Given the description of an element on the screen output the (x, y) to click on. 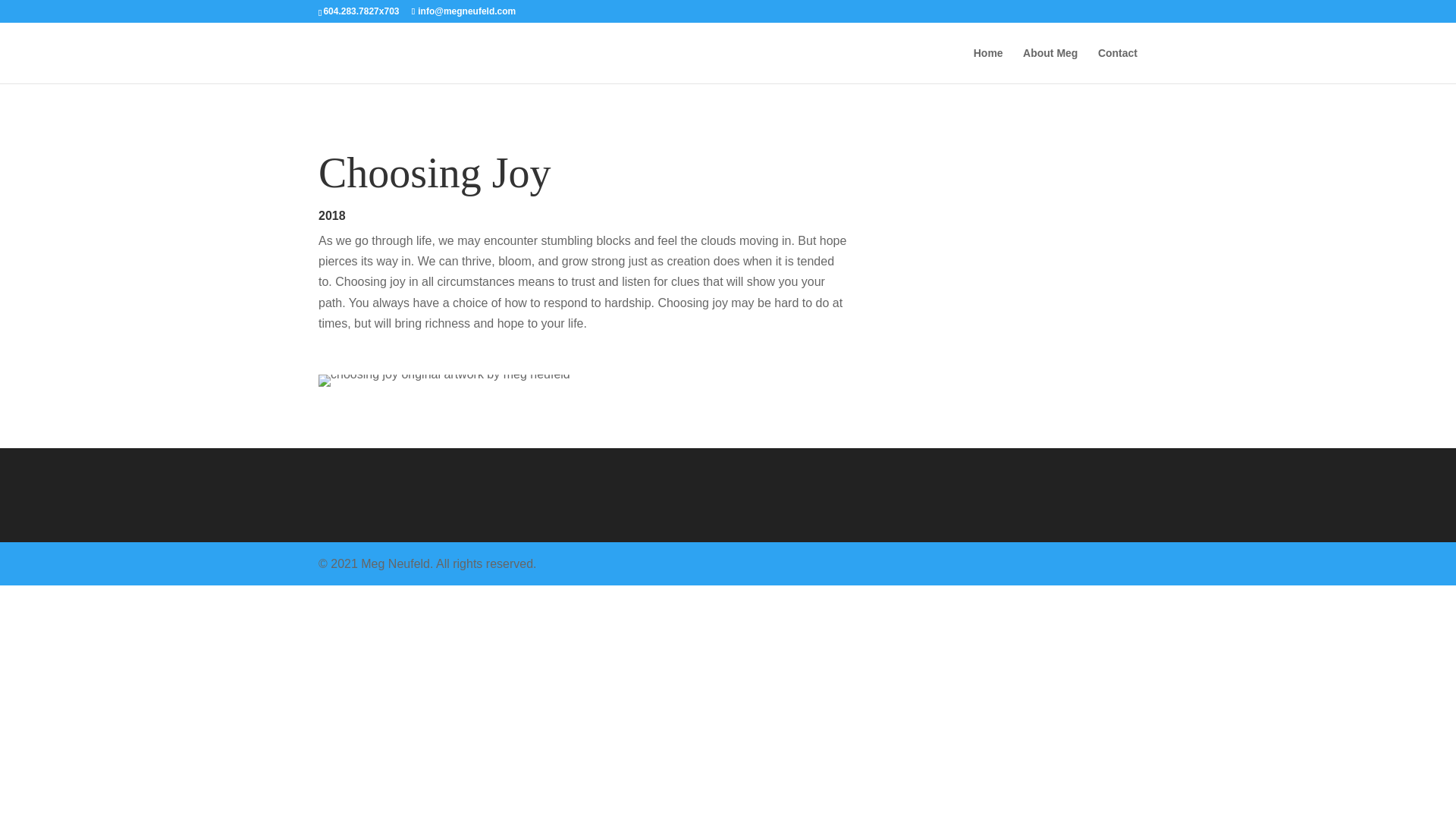
About Meg (1050, 65)
Contact (1117, 65)
choosing-joy-meg-neufeld-800 (444, 380)
